Given the description of an element on the screen output the (x, y) to click on. 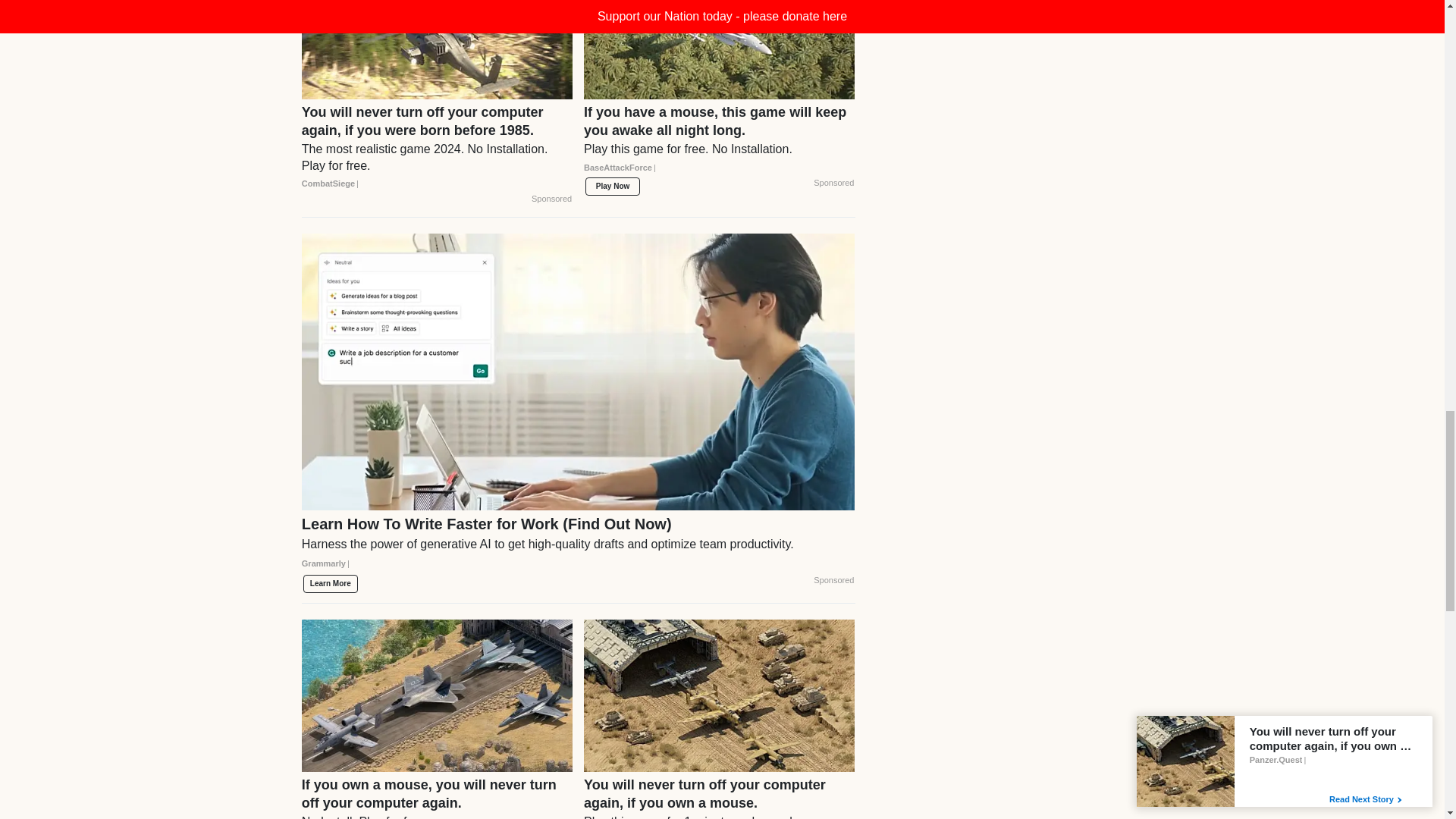
Sponsored (551, 199)
Play Now (612, 186)
Sponsored (833, 183)
